Given the description of an element on the screen output the (x, y) to click on. 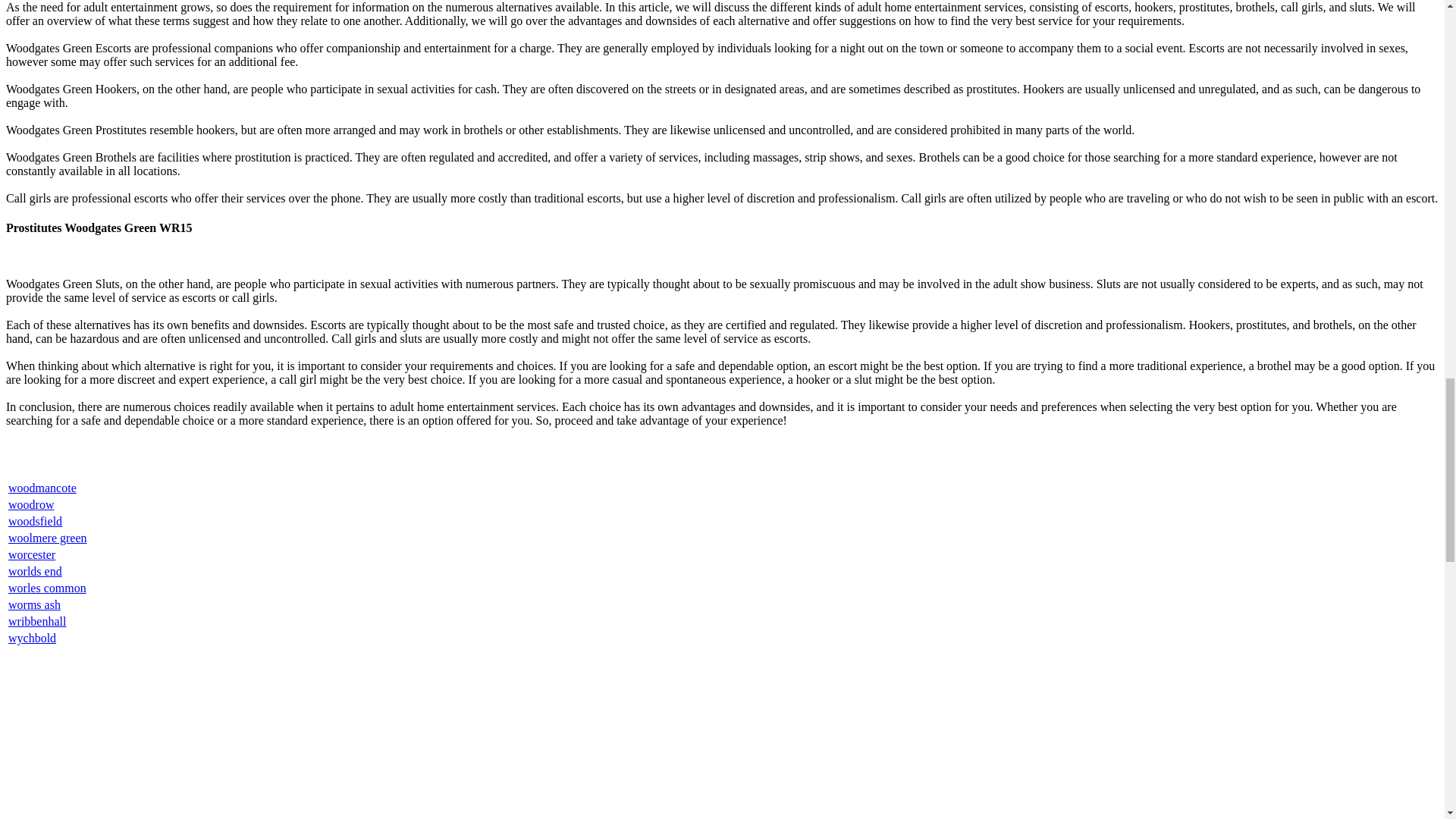
woodsfield (35, 521)
wribbenhall (36, 621)
woodrow (30, 504)
worms ash (34, 604)
worlds end (35, 571)
worles common (46, 587)
worcester (31, 554)
woodmancote (42, 487)
woolmere green (47, 537)
wychbold (32, 637)
